Given the description of an element on the screen output the (x, y) to click on. 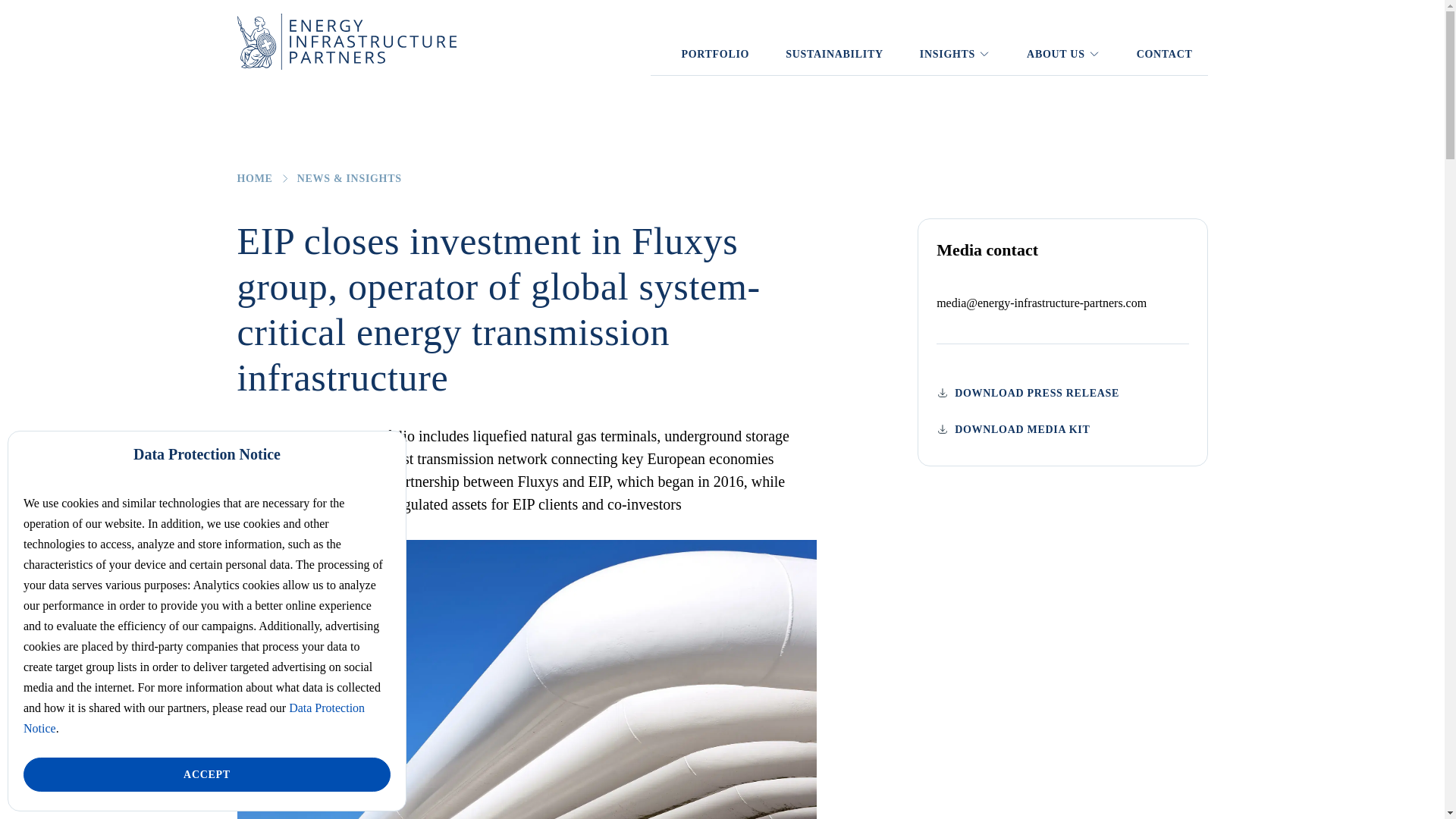
Data Protection Notice (194, 717)
DOWNLOAD PRESS RELEASE (1027, 392)
CONTACT (1164, 53)
DOWNLOAD MEDIA KIT (1012, 429)
SUSTAINABILITY (834, 53)
DOWNLOAD PRESS RELEASE (1062, 392)
ABOUT US (1063, 53)
HOME (253, 178)
PORTFOLIO (714, 53)
DOWNLOAD MEDIA KIT (1062, 429)
ACCEPT (206, 774)
INSIGHTS (955, 53)
